Given the description of an element on the screen output the (x, y) to click on. 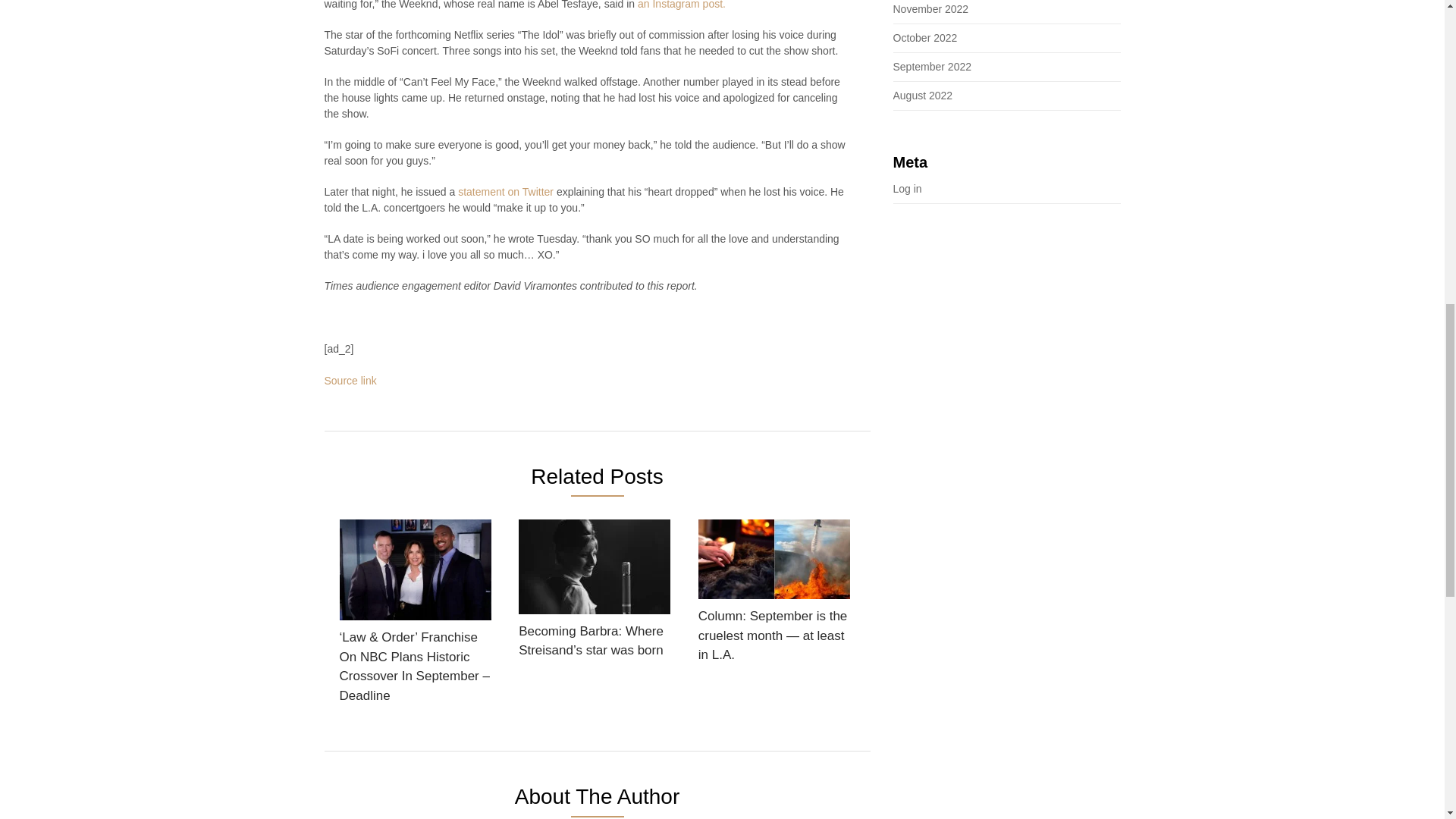
Source link (350, 380)
statement on Twitter (503, 191)
October 2022 (925, 37)
November 2022 (931, 9)
an Instagram post. (681, 4)
